Given the description of an element on the screen output the (x, y) to click on. 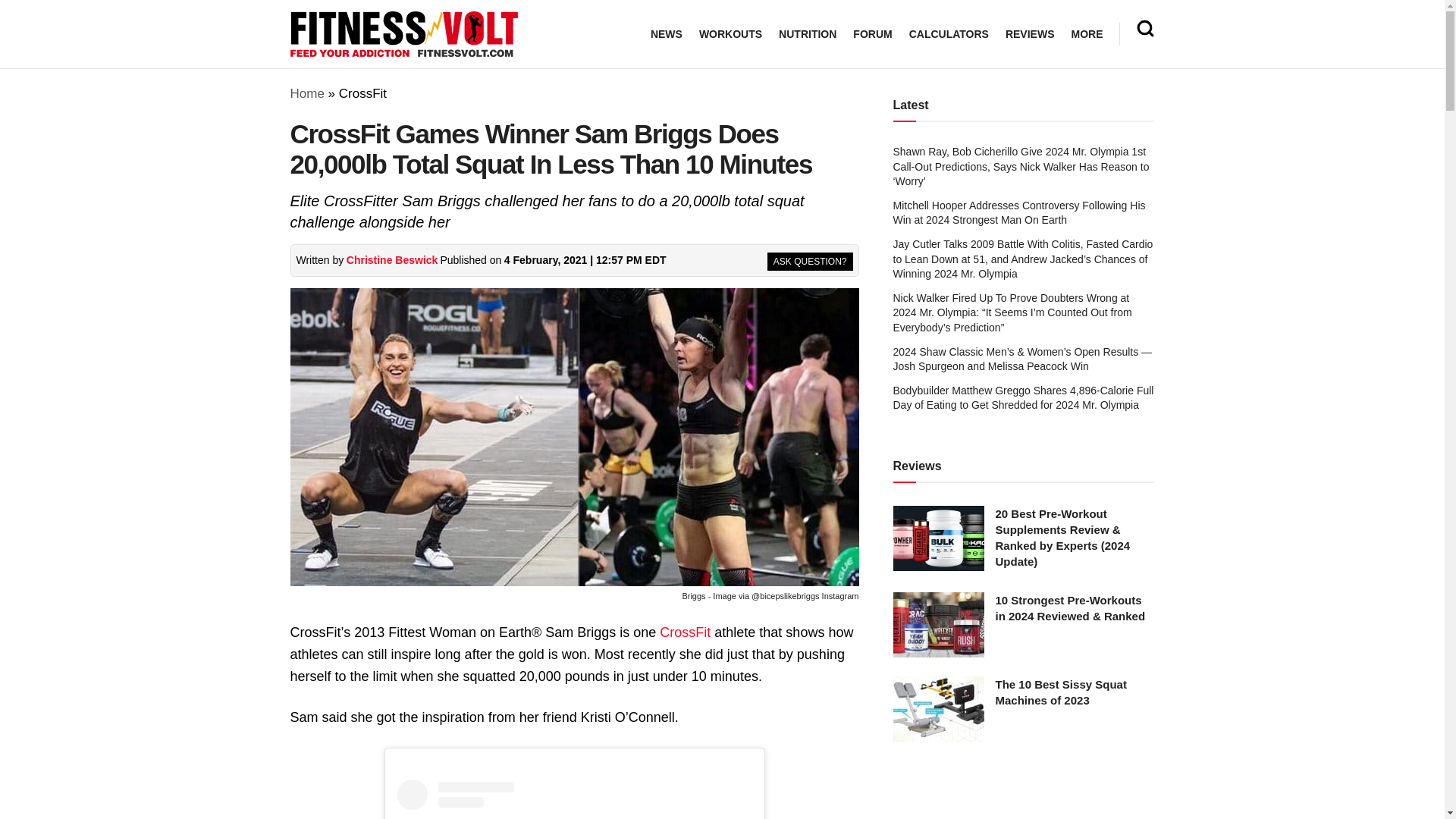
CALCULATORS (948, 34)
NEWS (666, 34)
WORKOUTS (729, 34)
MORE (1086, 34)
FORUM (872, 34)
NUTRITION (806, 34)
REVIEWS (1030, 34)
